Given the description of an element on the screen output the (x, y) to click on. 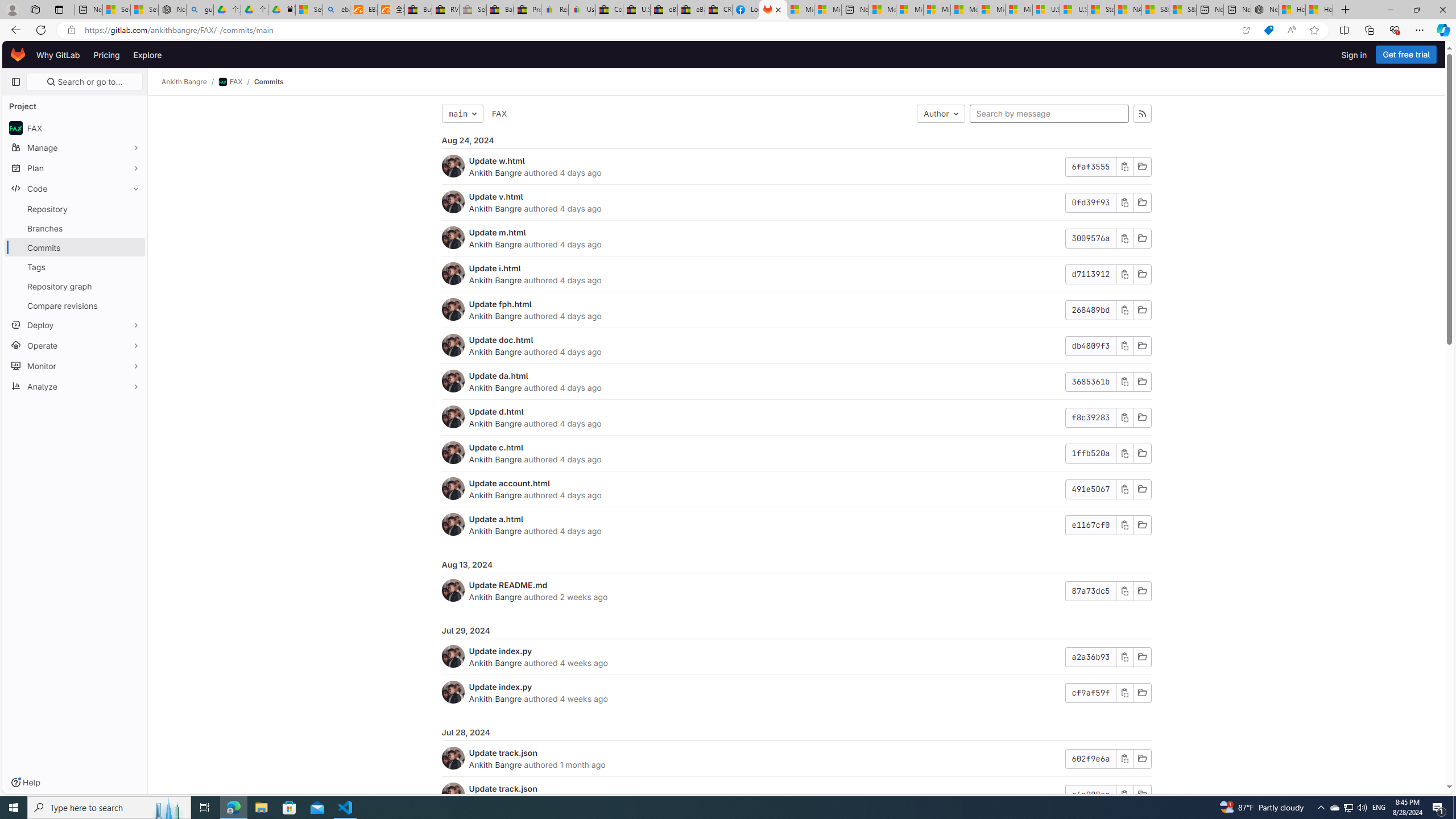
Update track.jsonAnkith Bangre authored 1 month agoc6a008ac (796, 794)
Class: s16 gl-icon gl-button-icon  (1124, 794)
Jul 29, 2024 (796, 630)
Class: s16 (1142, 794)
Why GitLab (58, 54)
Aug 24, 2024 (796, 140)
Repository (74, 208)
Explore (146, 54)
Sell worldwide with eBay - Sleeping (473, 9)
Update fph.html (499, 303)
Shopping in Microsoft Edge (1268, 29)
Update index.pyAnkith Bangre authored 4 weeks agocf9af59f (796, 692)
